Given the description of an element on the screen output the (x, y) to click on. 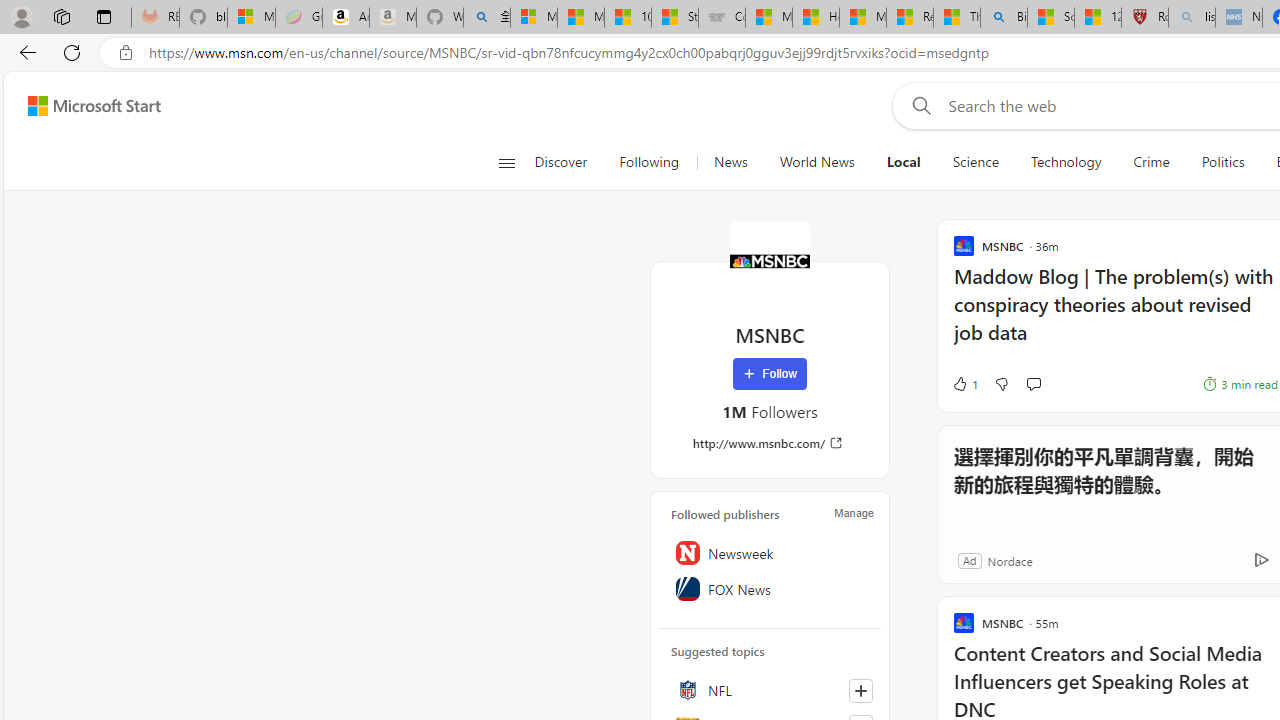
Manage (854, 512)
